Given the description of an element on the screen output the (x, y) to click on. 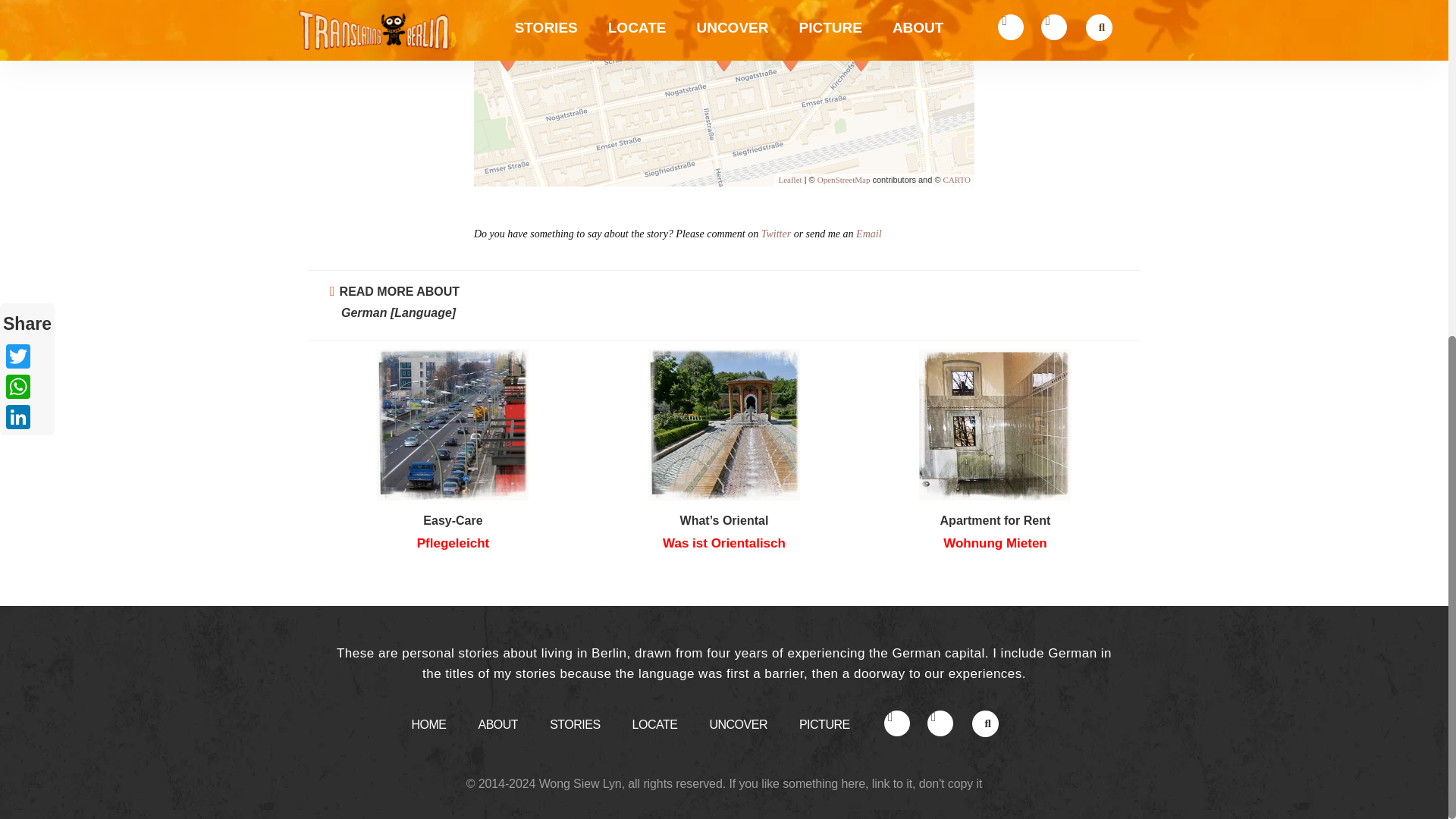
Zoom out (490, 2)
Search (982, 725)
A JS library for interactive maps (789, 179)
